Given the description of an element on the screen output the (x, y) to click on. 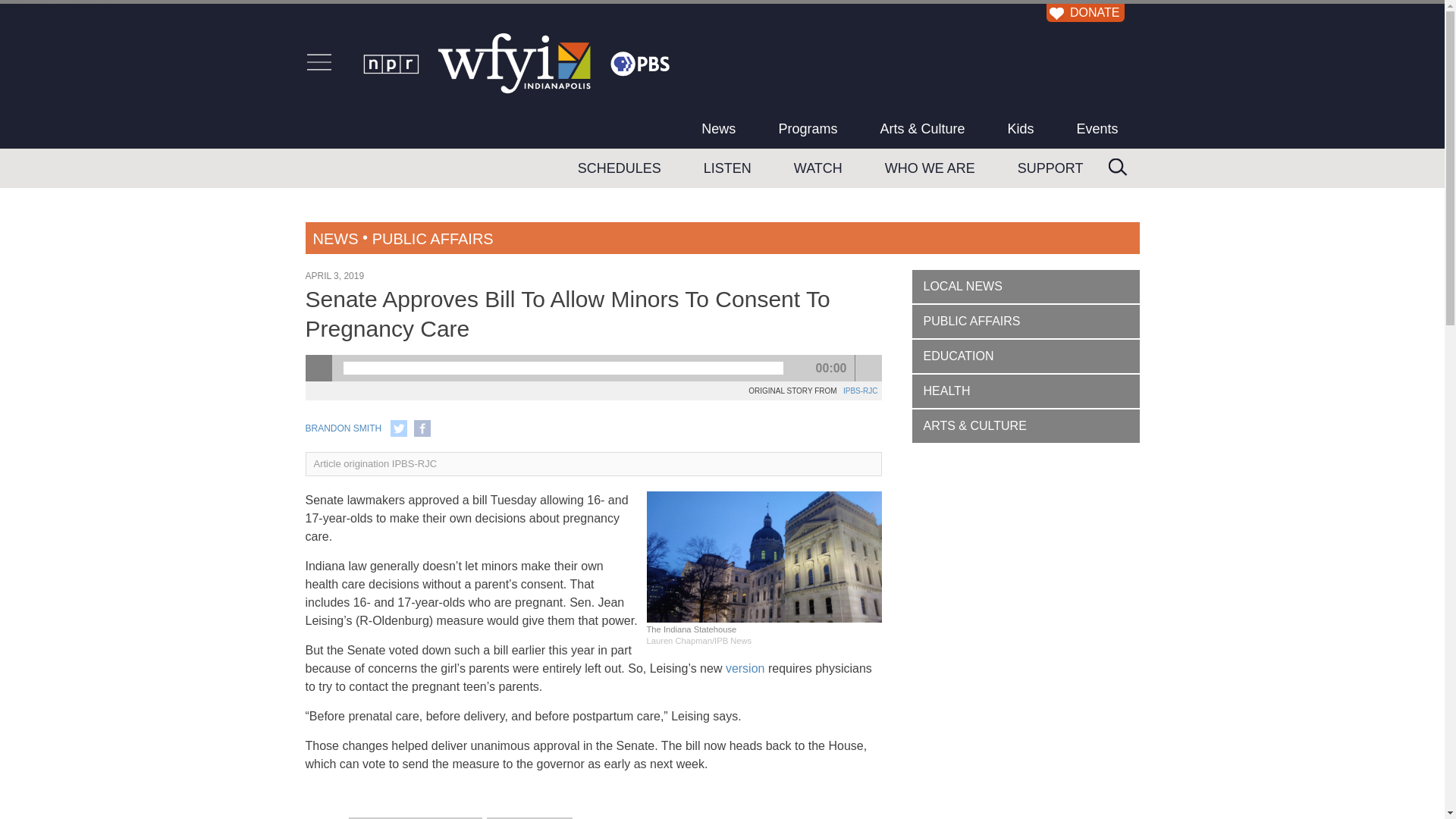
mute (869, 367)
WHO WE ARE (929, 168)
WATCH (818, 168)
play (317, 367)
Skip to main content (55, 9)
mute (869, 367)
NEWS (335, 238)
SCHEDULES (619, 168)
PUBLIC AFFAIRS (432, 238)
Programs (808, 128)
